Given the description of an element on the screen output the (x, y) to click on. 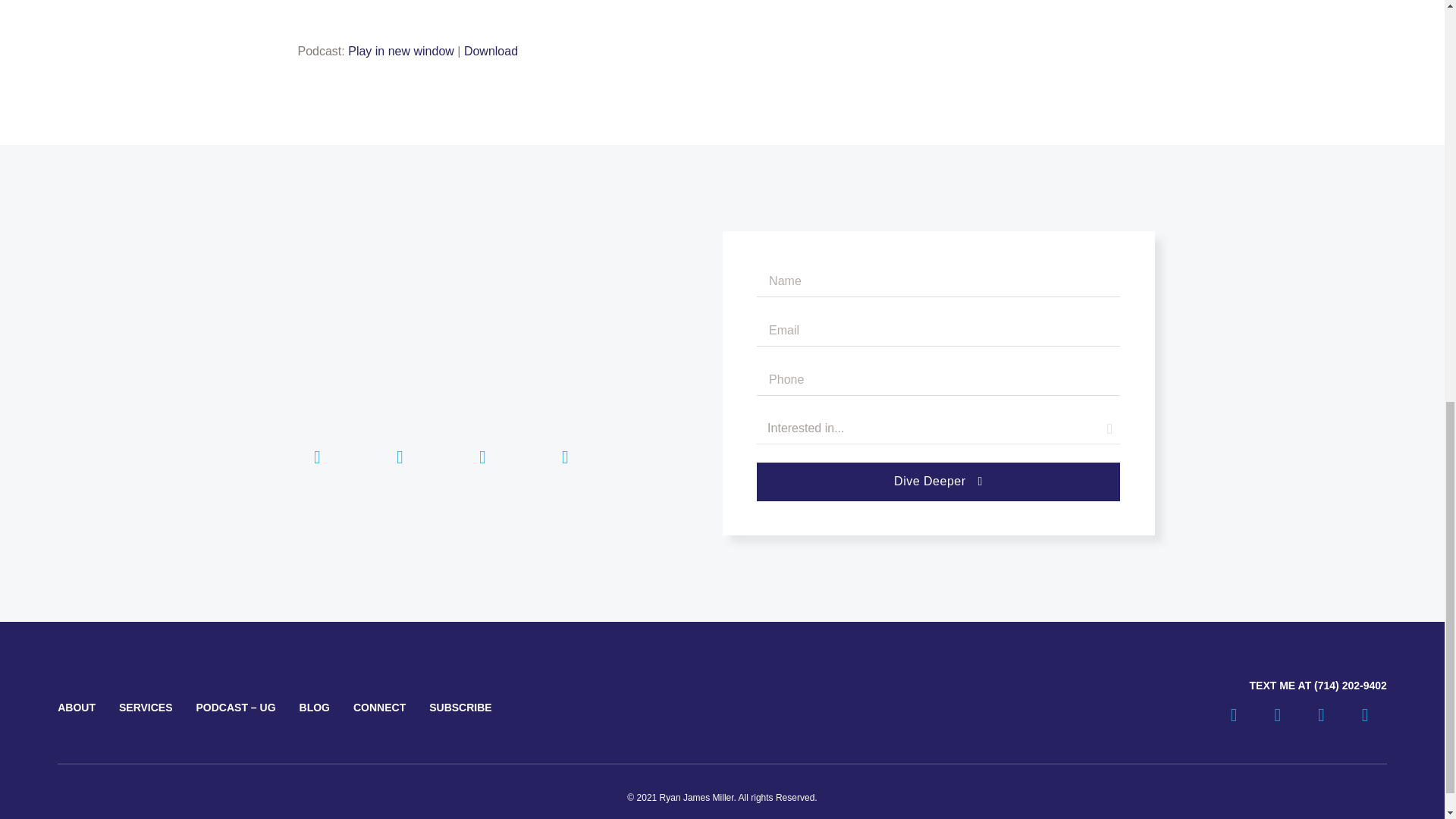
Download (491, 51)
ABOUT (77, 707)
CONNECT (379, 707)
Play in new window (400, 51)
Blubrry Podcast Player (722, 18)
Dive Deeper (938, 481)
Download (491, 51)
SERVICES (146, 707)
SUBSCRIBE (460, 707)
Play in new window (400, 51)
